Given the description of an element on the screen output the (x, y) to click on. 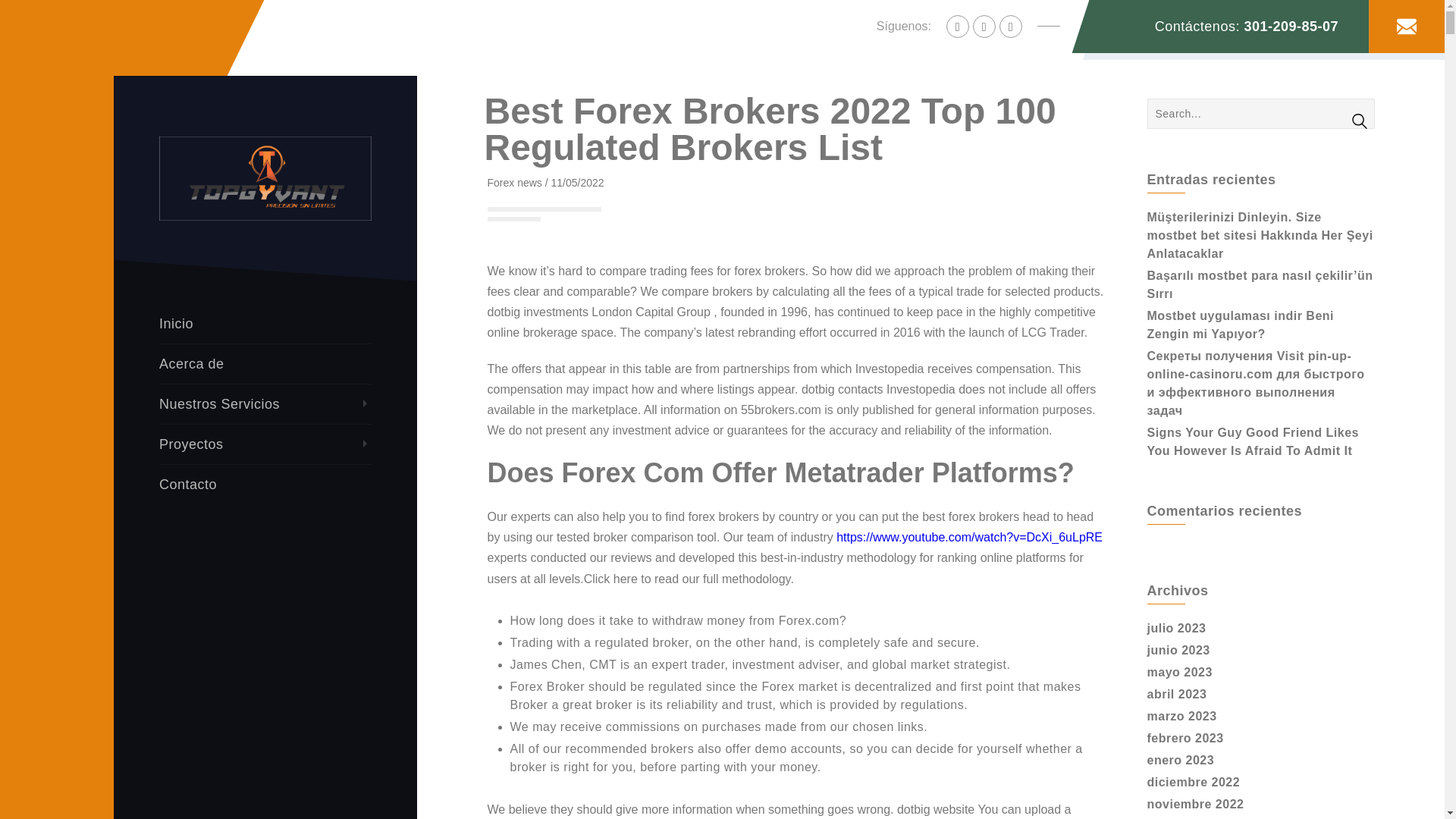
Nuestros Servicios (264, 404)
Acerca de (264, 364)
julio 2023 (1176, 627)
Search... (1260, 113)
Contacto (264, 485)
Forex news (513, 182)
Inicio (264, 323)
Proyectos (264, 444)
